Given the description of an element on the screen output the (x, y) to click on. 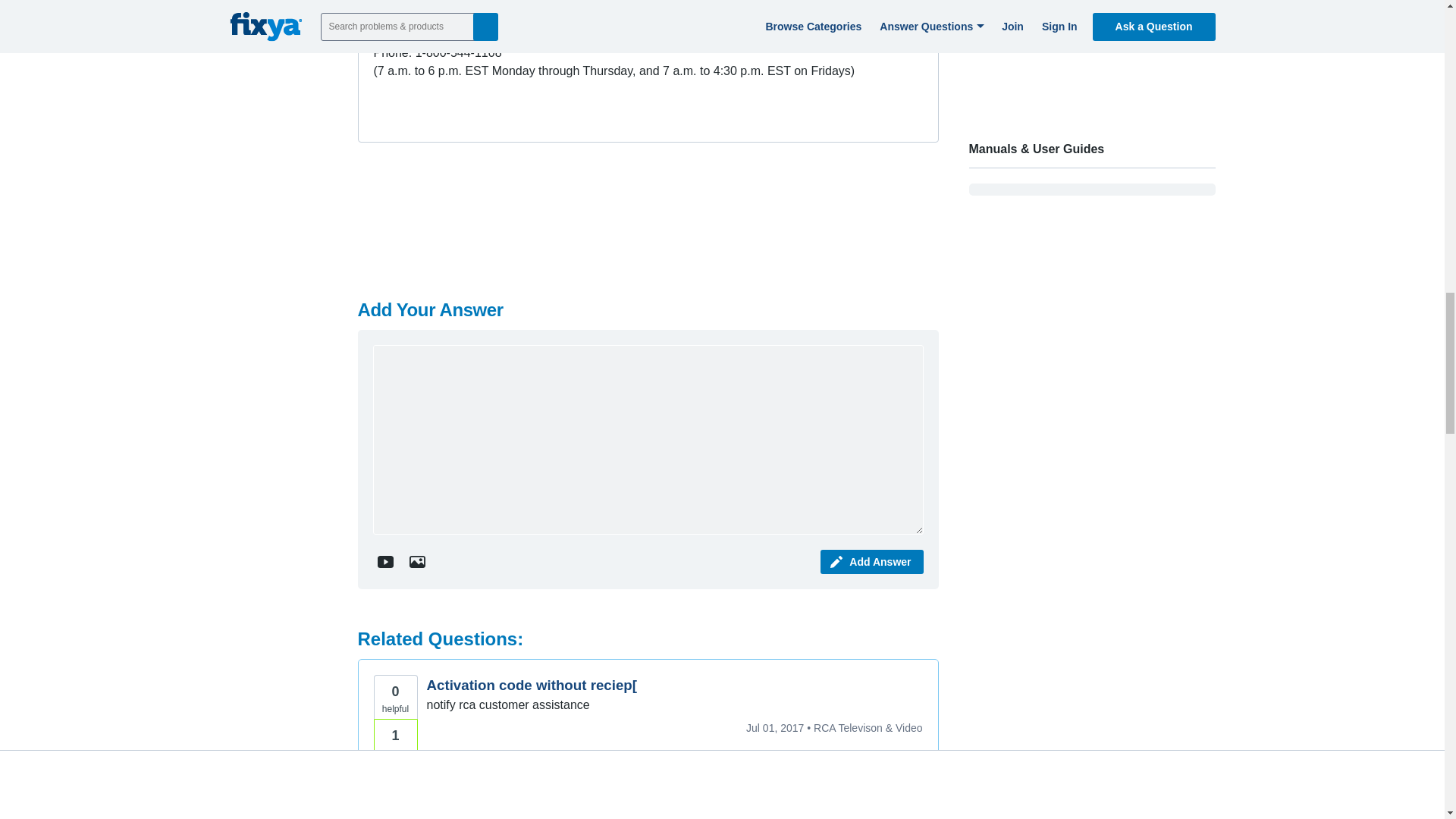
Add Answer (872, 561)
